Given the description of an element on the screen output the (x, y) to click on. 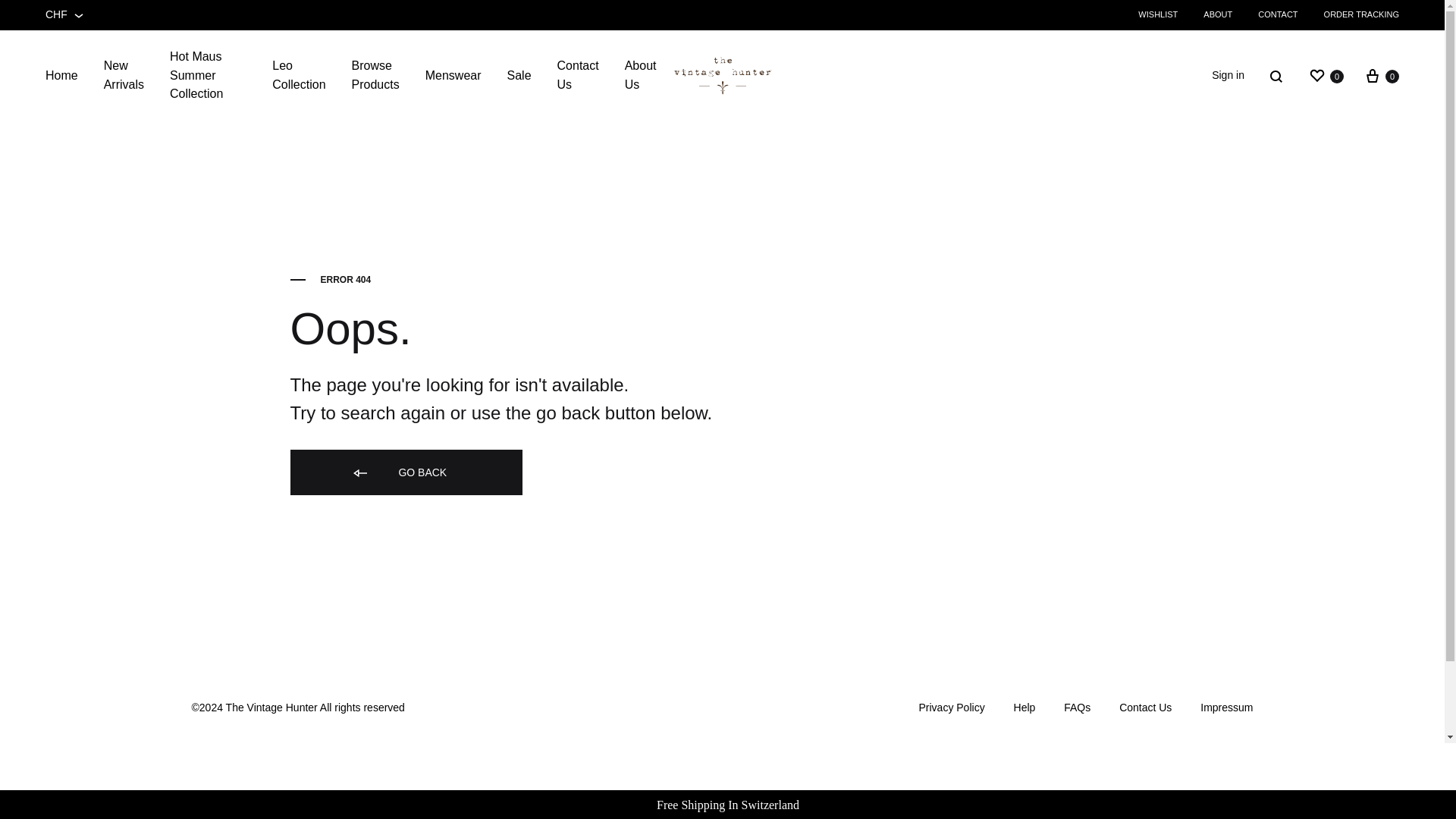
Hot Maus Summer Collection (208, 75)
Browse Products (375, 75)
Home (61, 75)
New Arrivals (123, 75)
ORDER TRACKING (1361, 14)
WISHLIST (1157, 14)
ABOUT (1217, 14)
Contact Us (577, 75)
Menswear (1380, 75)
